Given the description of an element on the screen output the (x, y) to click on. 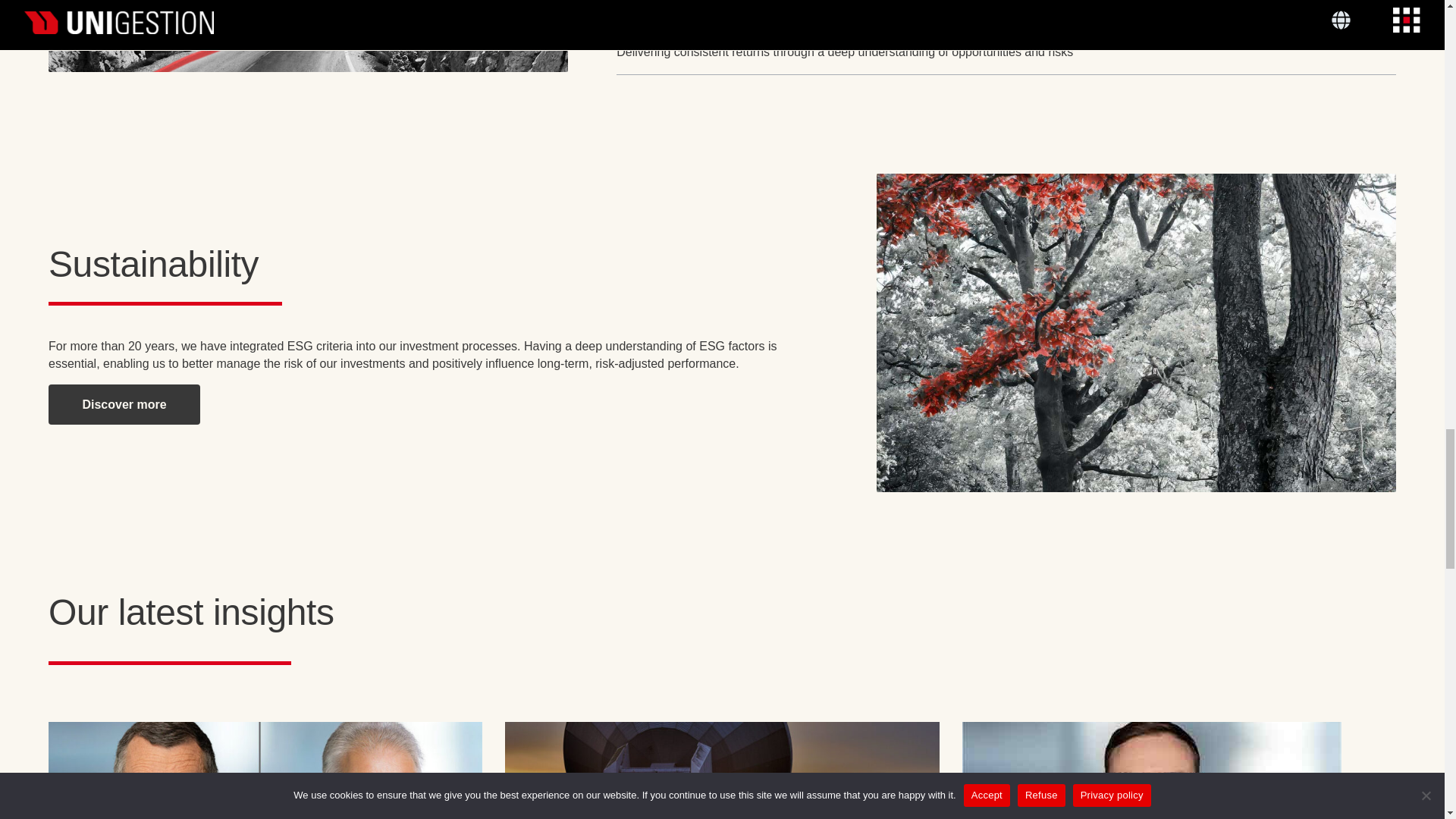
Discover more (124, 404)
